Given the description of an element on the screen output the (x, y) to click on. 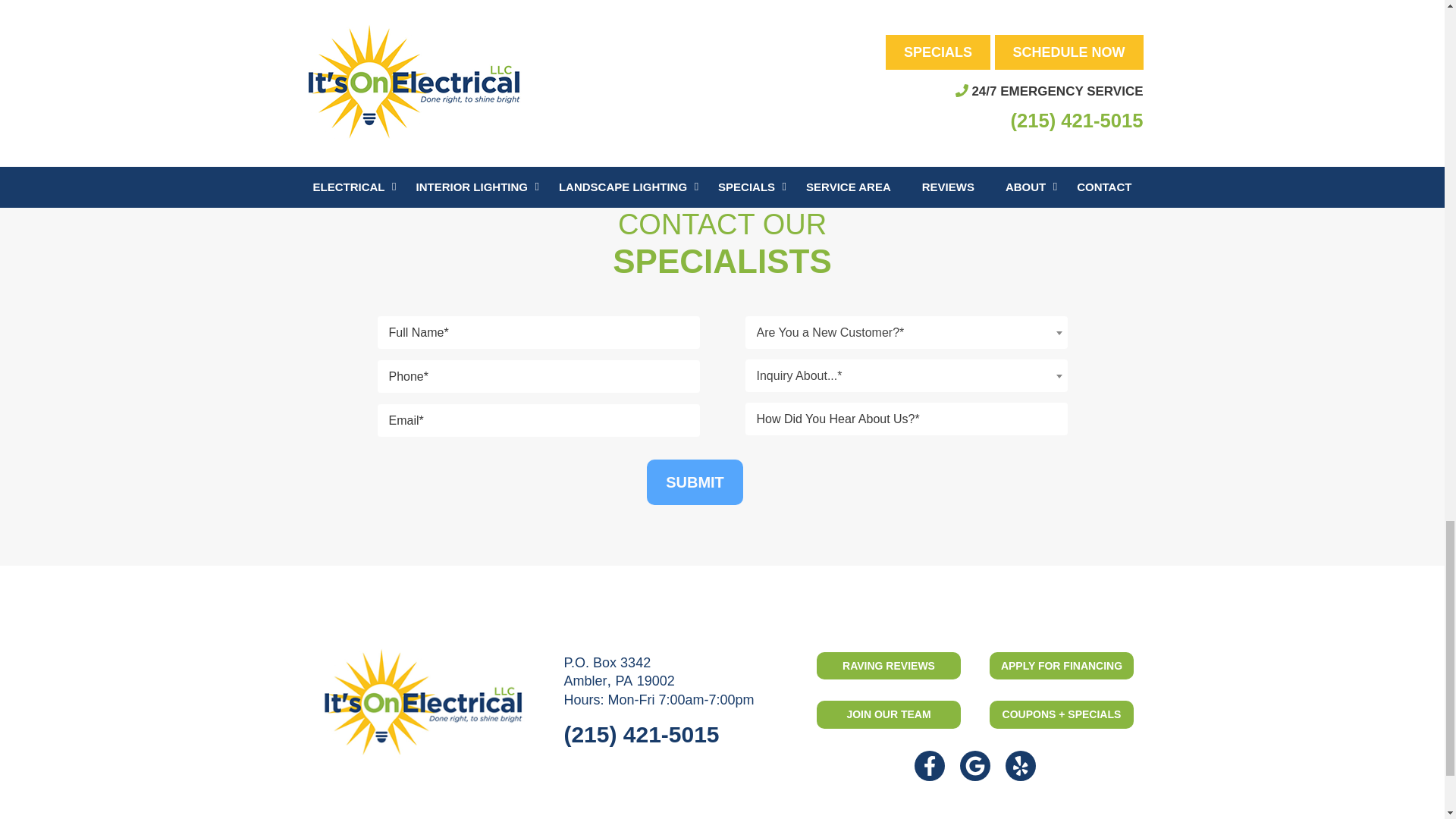
Submit (694, 482)
